Given the description of an element on the screen output the (x, y) to click on. 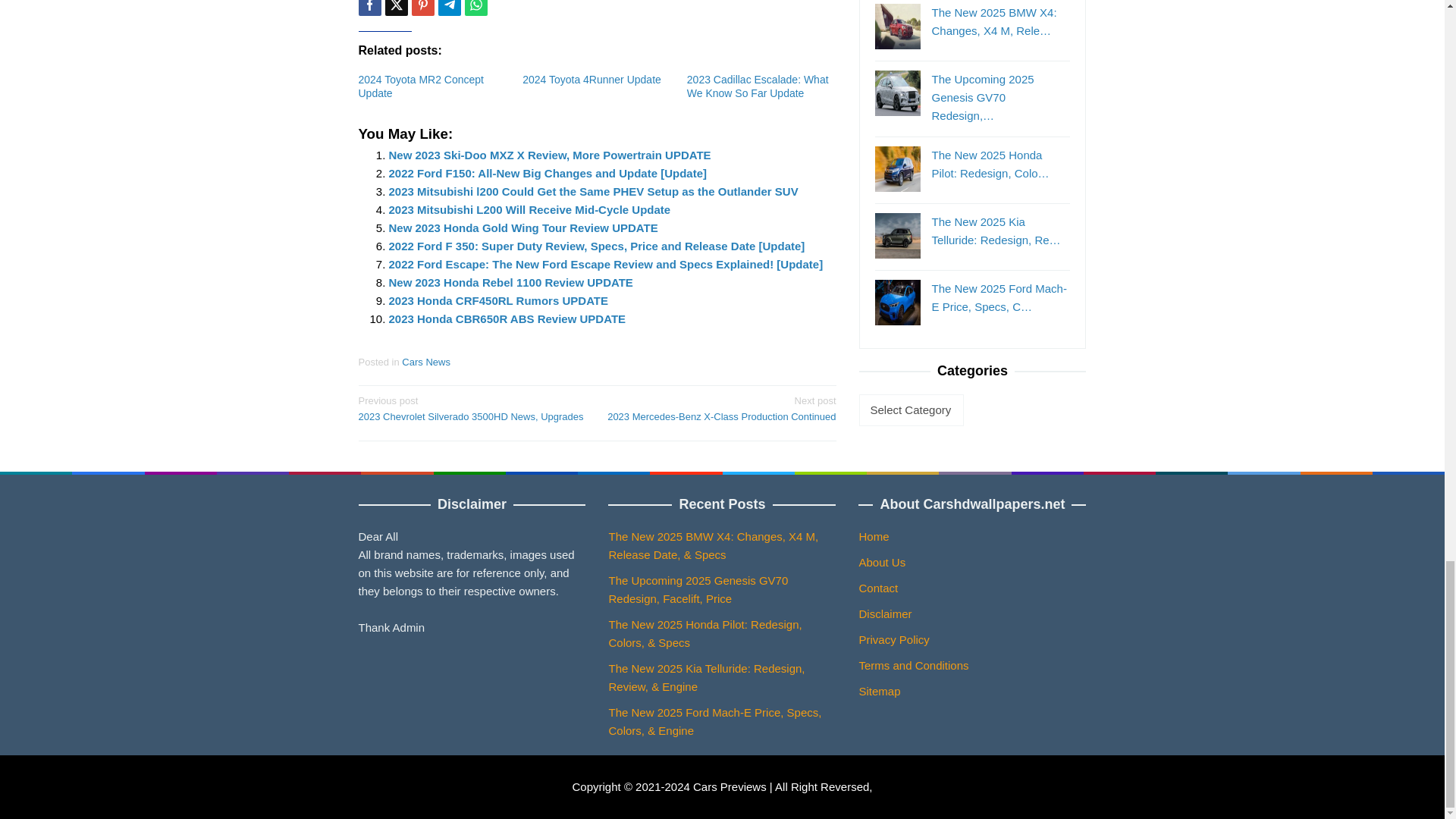
Pin this (421, 7)
Share this (369, 7)
Telegram Share (449, 7)
Whatsapp (475, 7)
Tweet this (396, 7)
